Given the description of an element on the screen output the (x, y) to click on. 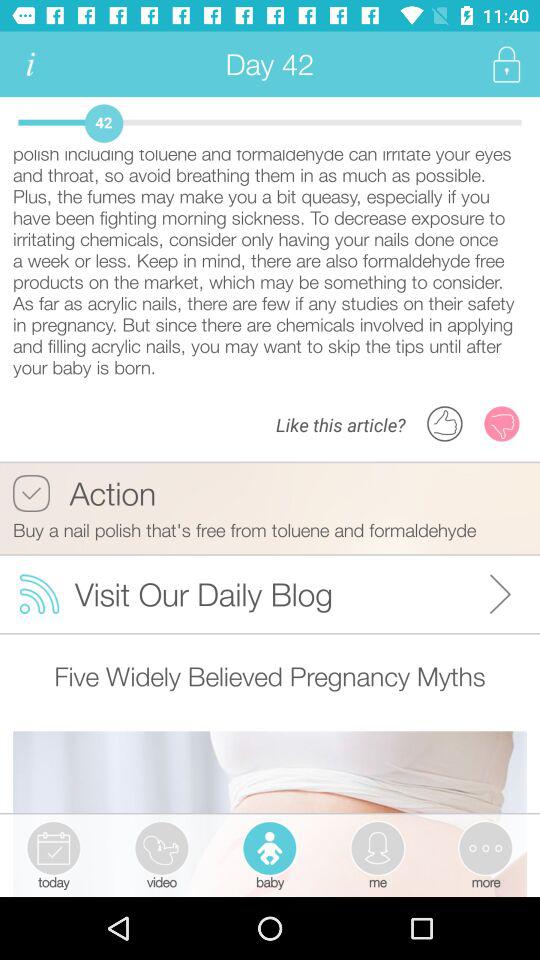
dislike this article (502, 423)
